Given the description of an element on the screen output the (x, y) to click on. 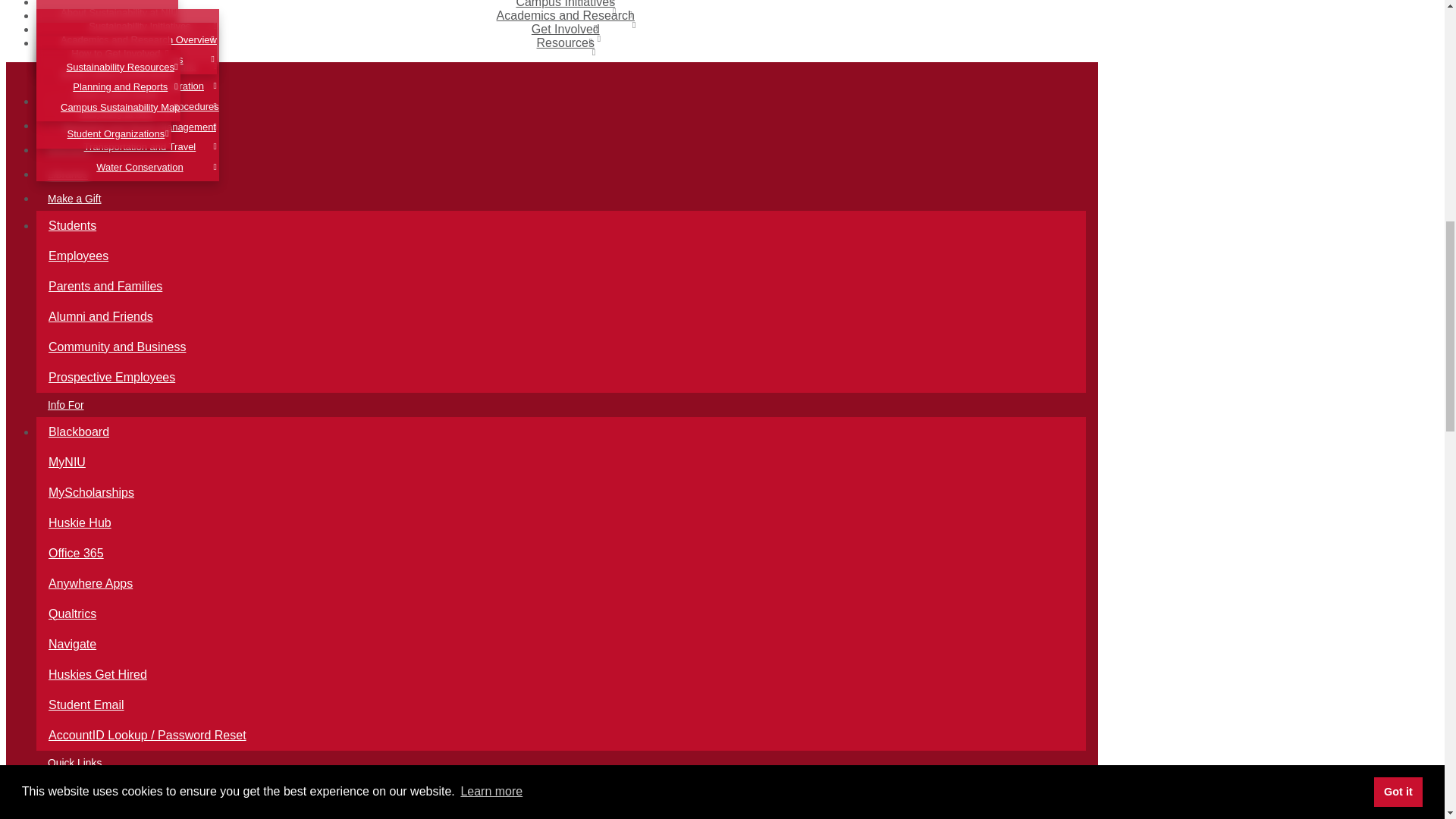
About Sustainability at NIU (119, 13)
Our Commitments (119, 53)
Our Team (119, 32)
